Given the description of an element on the screen output the (x, y) to click on. 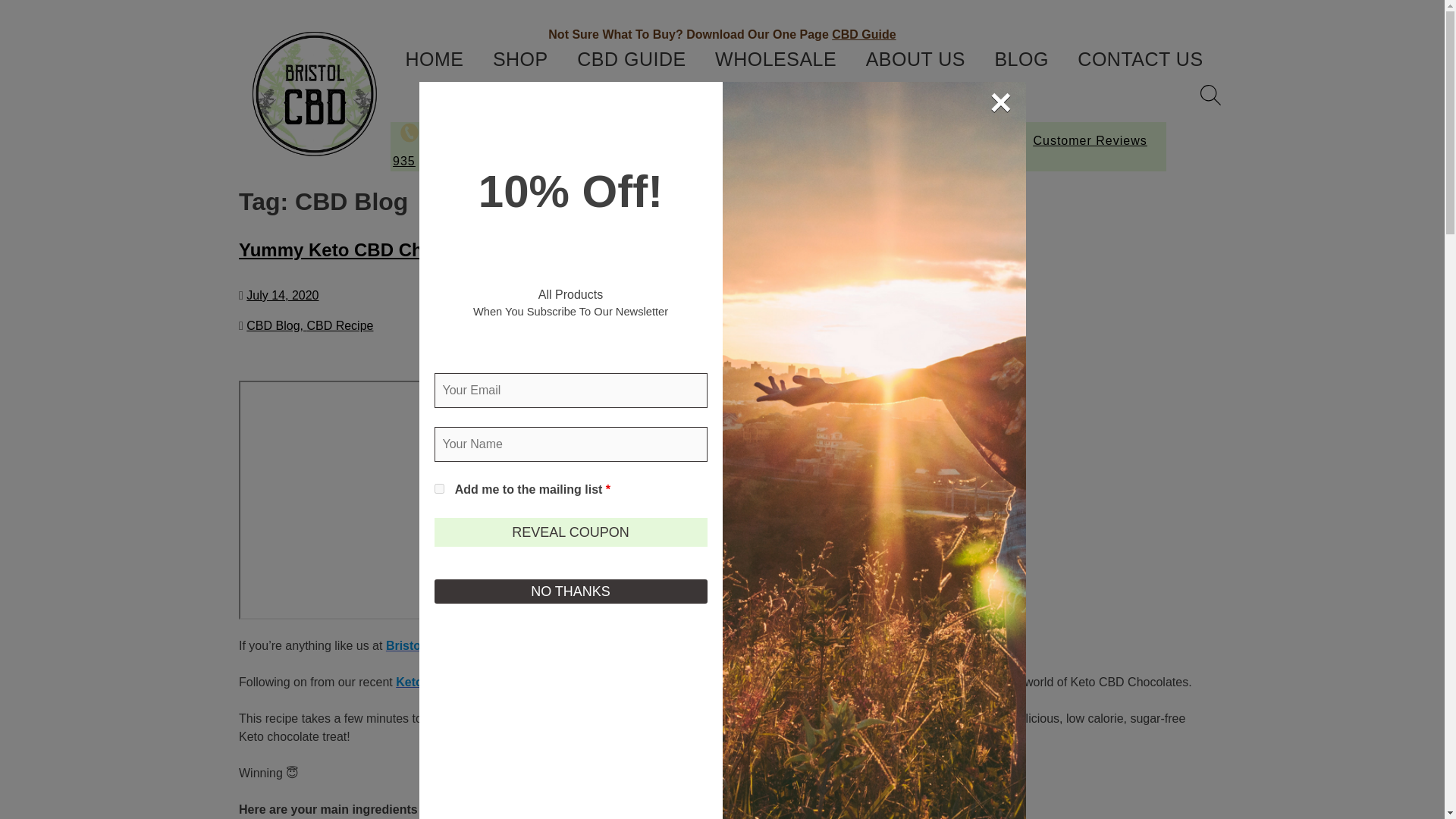
1 (438, 488)
CONTACT US (1139, 59)
Customer Reviews (1094, 140)
CBD Guide (863, 33)
REVEAL COUPON (569, 532)
WHOLESALE (776, 59)
BLOG (1021, 59)
My Basket (793, 89)
07706 031 935 (441, 150)
CBD Blog, (275, 325)
Yummy Keto CBD Chocolate Recipe (394, 249)
HOME (433, 59)
ABOUT US (915, 59)
SHOP (520, 59)
July 14, 2020 (282, 295)
